Given the description of an element on the screen output the (x, y) to click on. 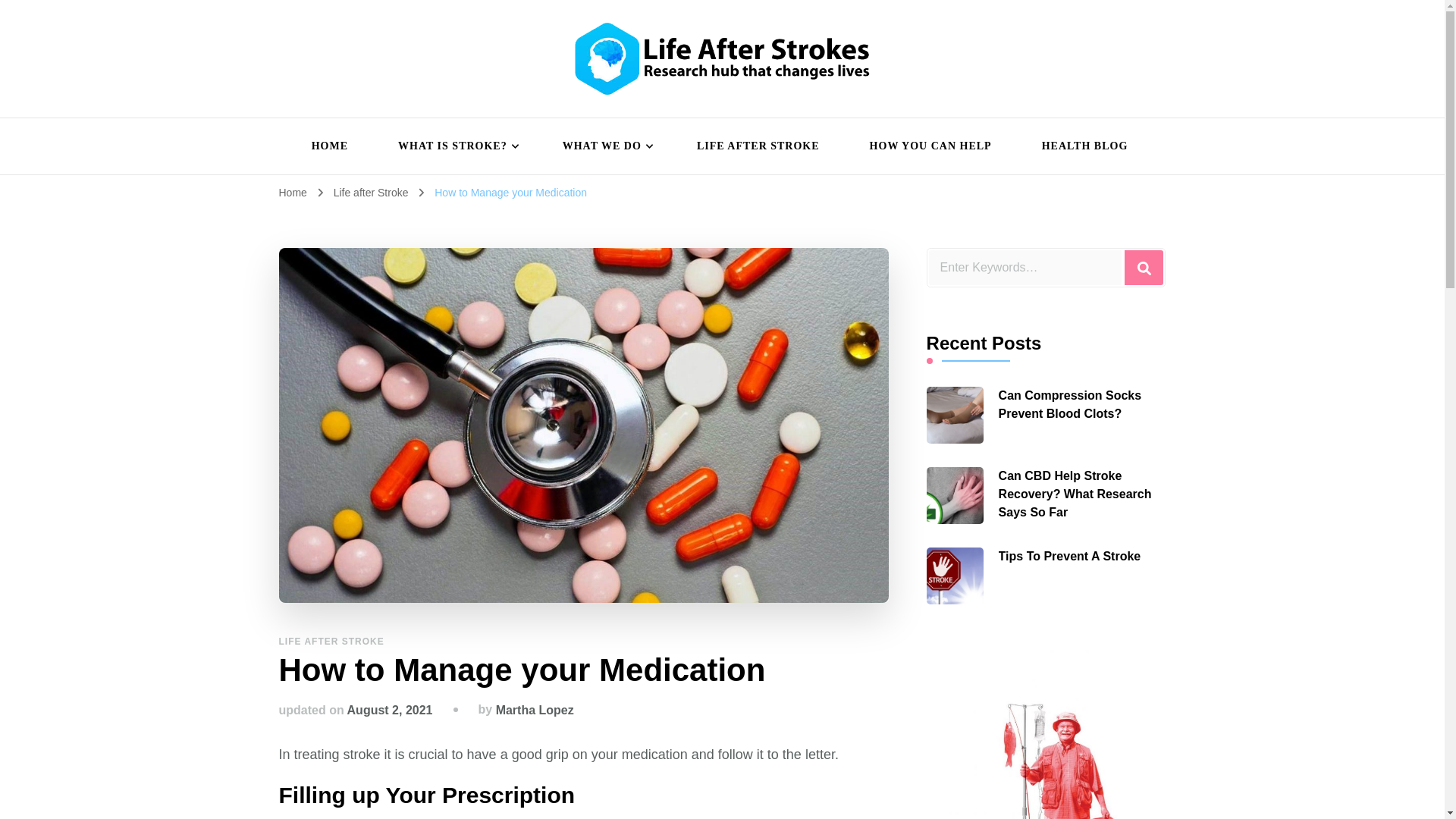
How to Manage your Medication (509, 192)
HOME (329, 146)
Search (1143, 267)
Search (1143, 267)
Life after Stroke (372, 192)
LIFE AFTER STROKE (757, 146)
HOW YOU CAN HELP (931, 146)
LIFE AFTER STROKE (331, 641)
WHAT WE DO (604, 146)
Search (1143, 267)
